Given the description of an element on the screen output the (x, y) to click on. 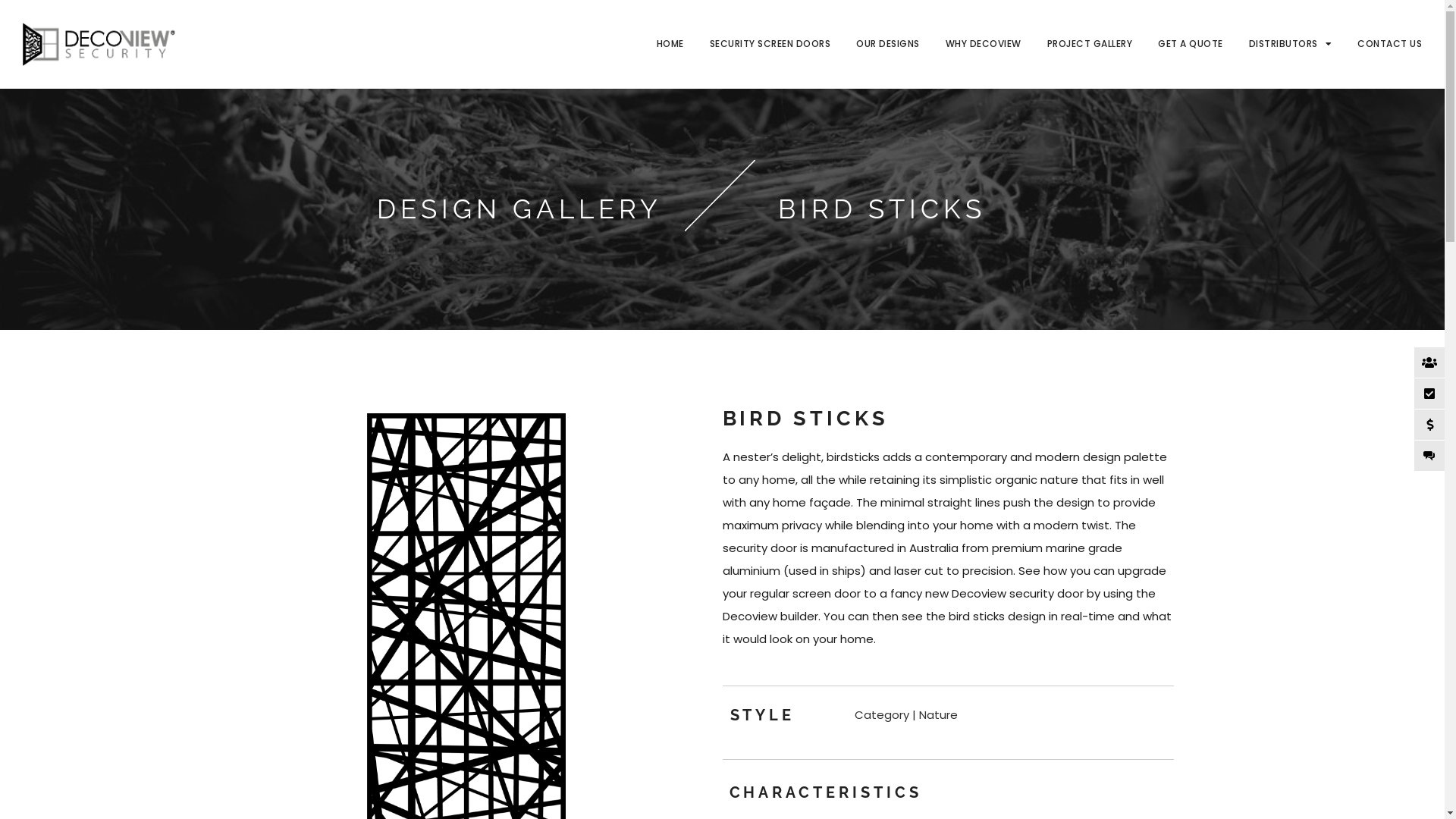
WHY DECOVIEW Element type: text (982, 43)
GET A QUOTE Element type: text (1190, 43)
HOME Element type: text (670, 43)
DISTRIBUTORS Element type: text (1289, 43)
PROJECT GALLERY Element type: text (1089, 43)
OUR DESIGNS Element type: text (887, 43)
CONTACT US Element type: text (1389, 43)
SECURITY SCREEN DOORS Element type: text (770, 43)
